Given the description of an element on the screen output the (x, y) to click on. 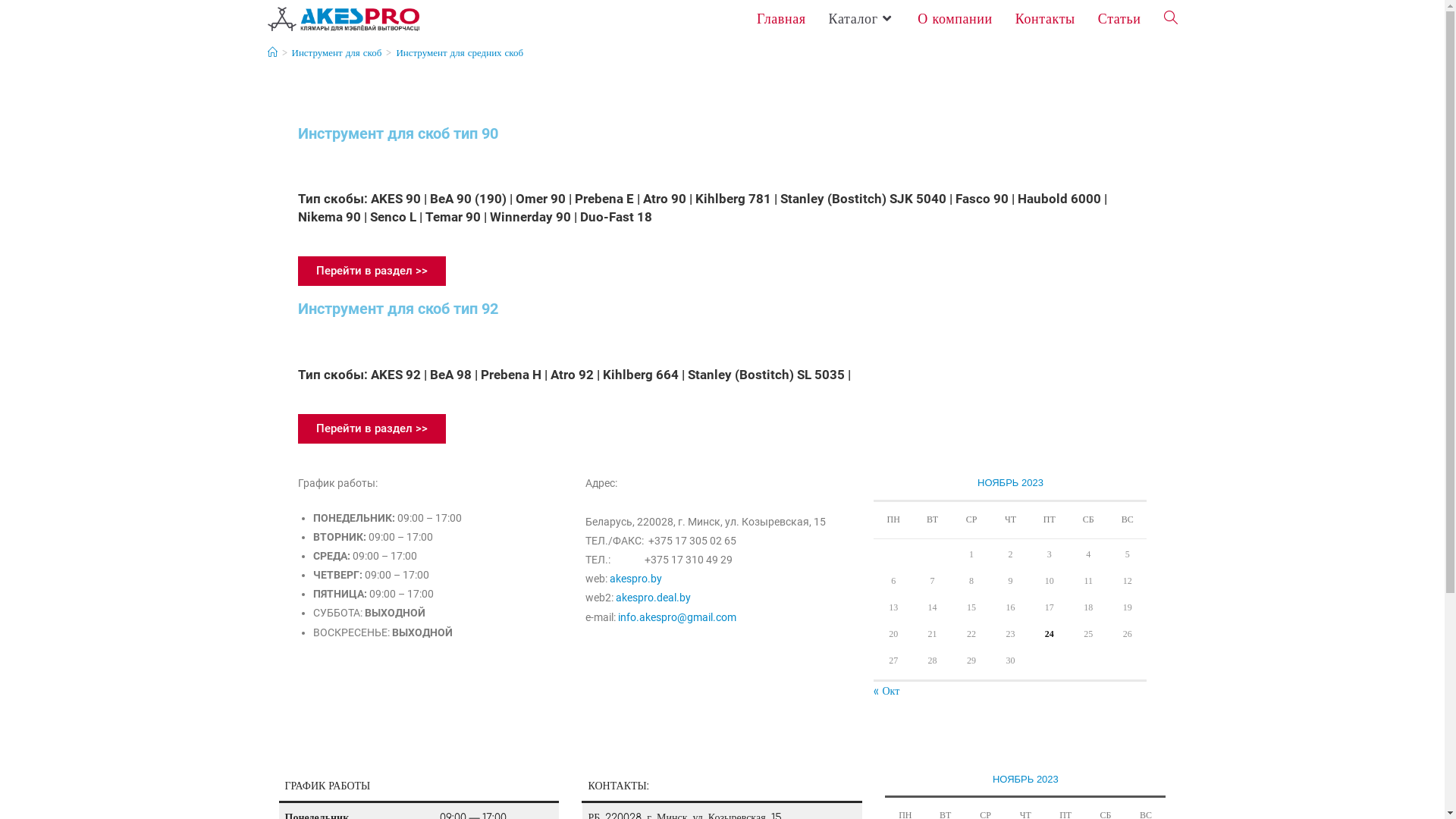
akespro.by Element type: text (635, 578)
info.akespro@gmail.com Element type: text (677, 617)
akespro.deal.by Element type: text (652, 597)
